Given the description of an element on the screen output the (x, y) to click on. 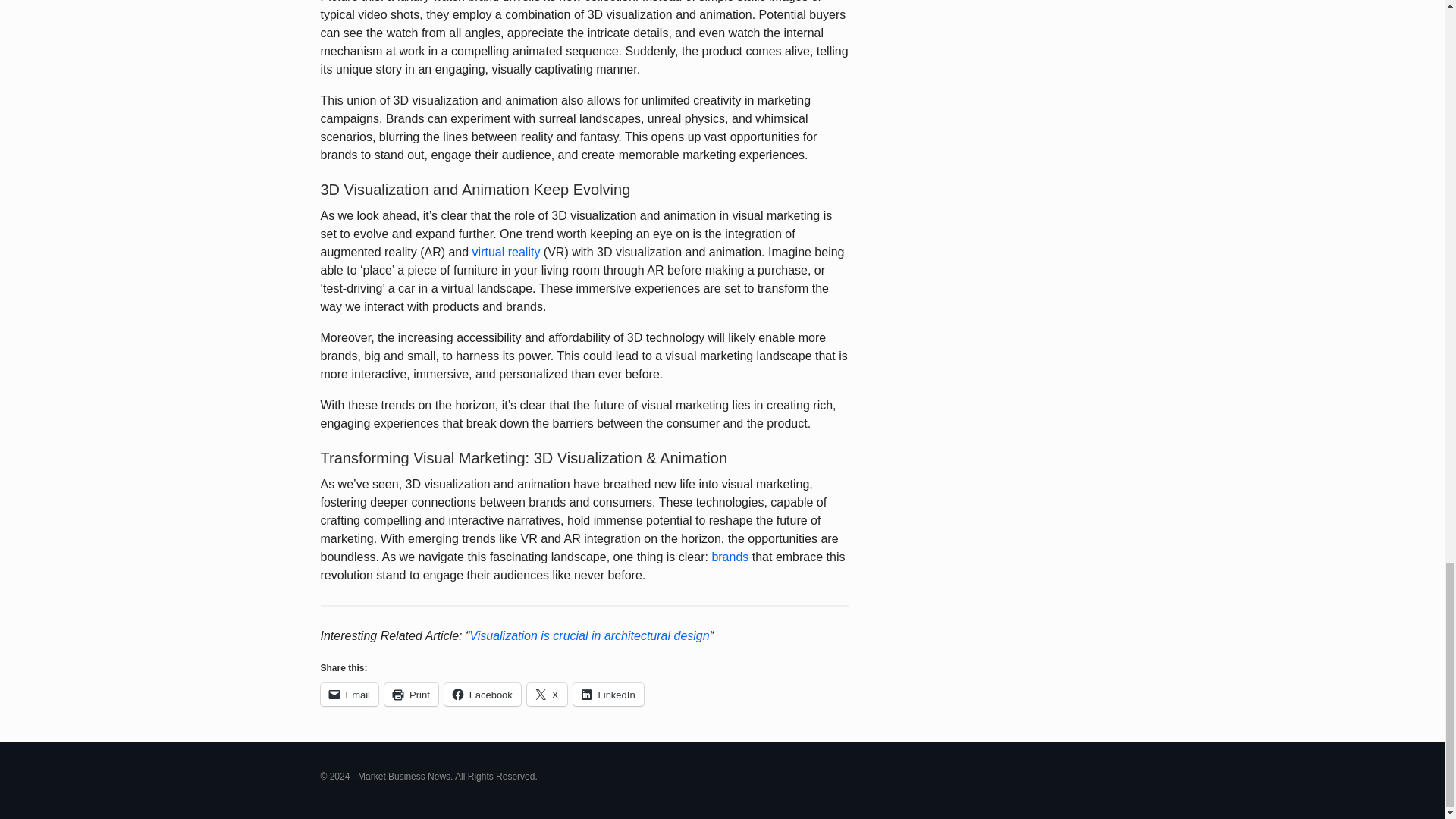
Click to share on Facebook (482, 694)
virtual reality (505, 251)
brands (729, 556)
Visualization is crucial in architectural design (588, 635)
Email (349, 694)
Click to share on X (547, 694)
Click to print (411, 694)
Click to email a link to a friend (349, 694)
X (547, 694)
LinkedIn (608, 694)
Facebook (482, 694)
Print (411, 694)
Click to share on LinkedIn (608, 694)
